Given the description of an element on the screen output the (x, y) to click on. 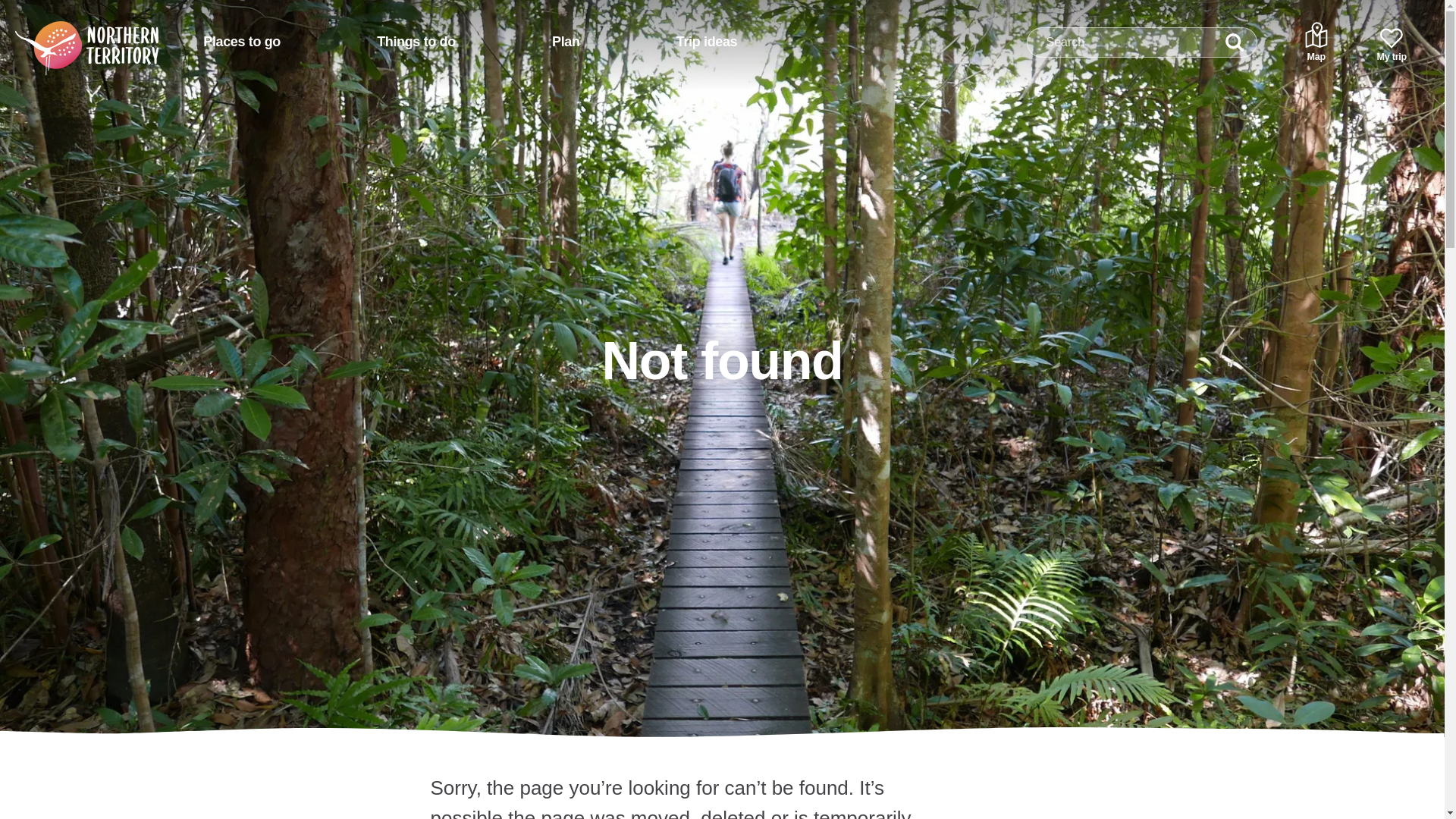
Search (1234, 42)
Places to go (241, 42)
Things to do (416, 42)
Home (67, 36)
